Given the description of an element on the screen output the (x, y) to click on. 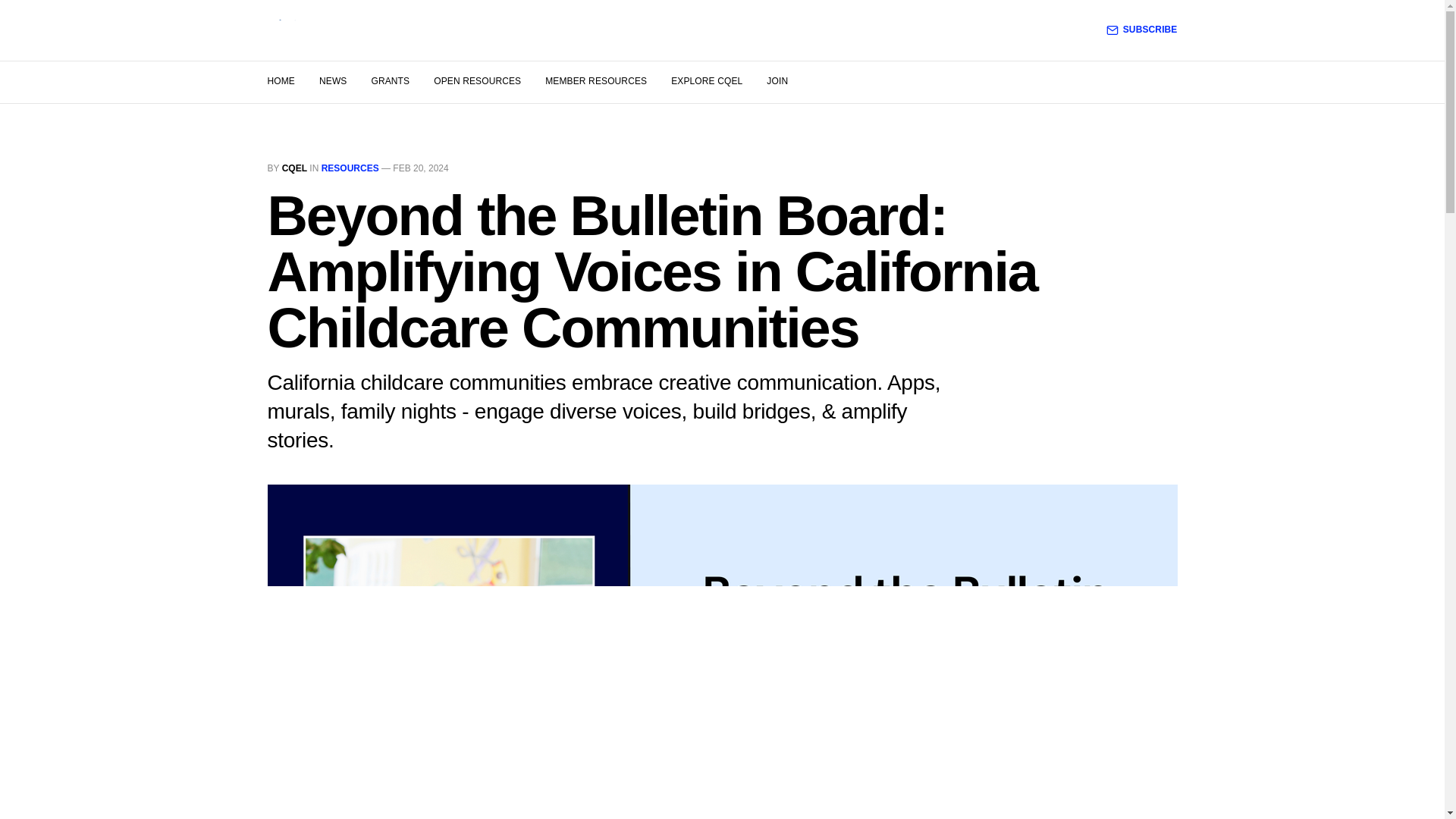
RESOURCES (349, 167)
EXPLORE CQEL (706, 81)
OPEN RESOURCES (477, 81)
JOIN (777, 81)
SUBSCRIBE (1141, 29)
MEMBER RESOURCES (595, 81)
GRANTS (390, 81)
NEWS (332, 81)
CQEL (294, 167)
HOME (280, 81)
